Given the description of an element on the screen output the (x, y) to click on. 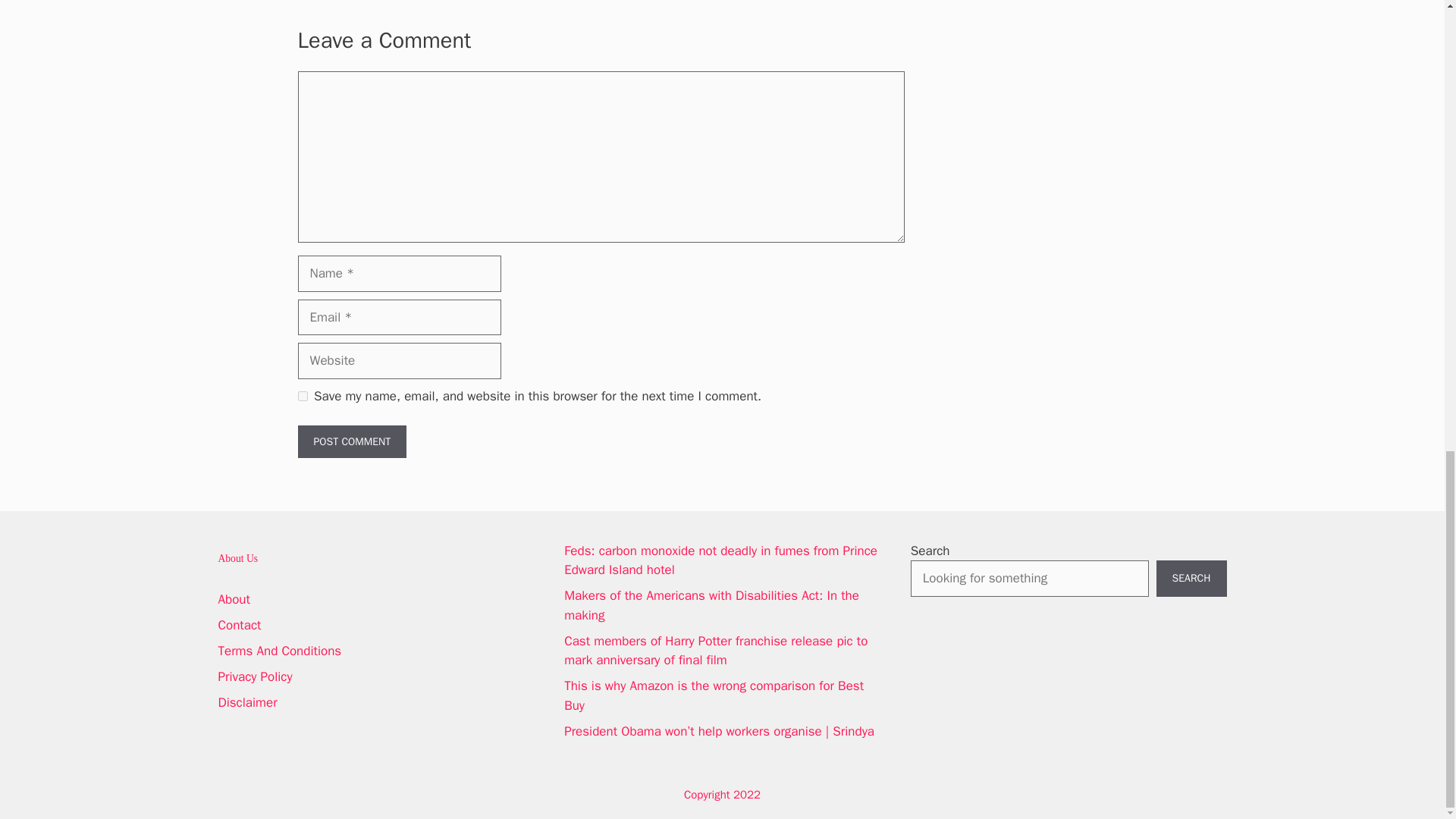
Post Comment (351, 441)
About (234, 599)
Contact (240, 625)
Post Comment (351, 441)
Disclaimer (248, 702)
Privacy Policy (255, 676)
yes (302, 396)
Terms And Conditions (280, 650)
